Given the description of an element on the screen output the (x, y) to click on. 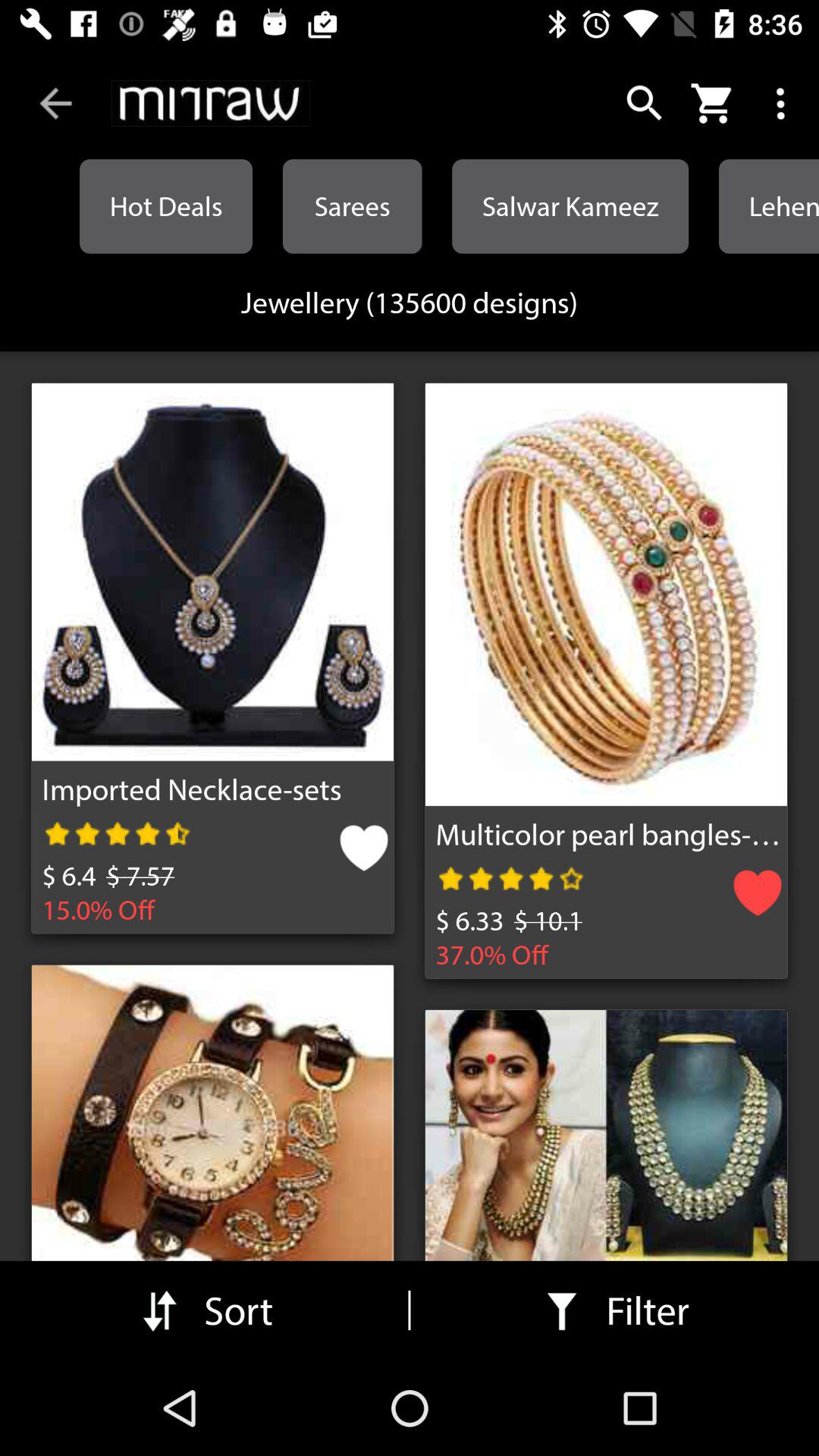
click on filter in the bottom right corner of the web page (614, 1311)
click on the three vertical dots in the top right corner of the webpage (783, 103)
select the option salwar kameez (570, 205)
click on red heart icon (757, 898)
